Given the description of an element on the screen output the (x, y) to click on. 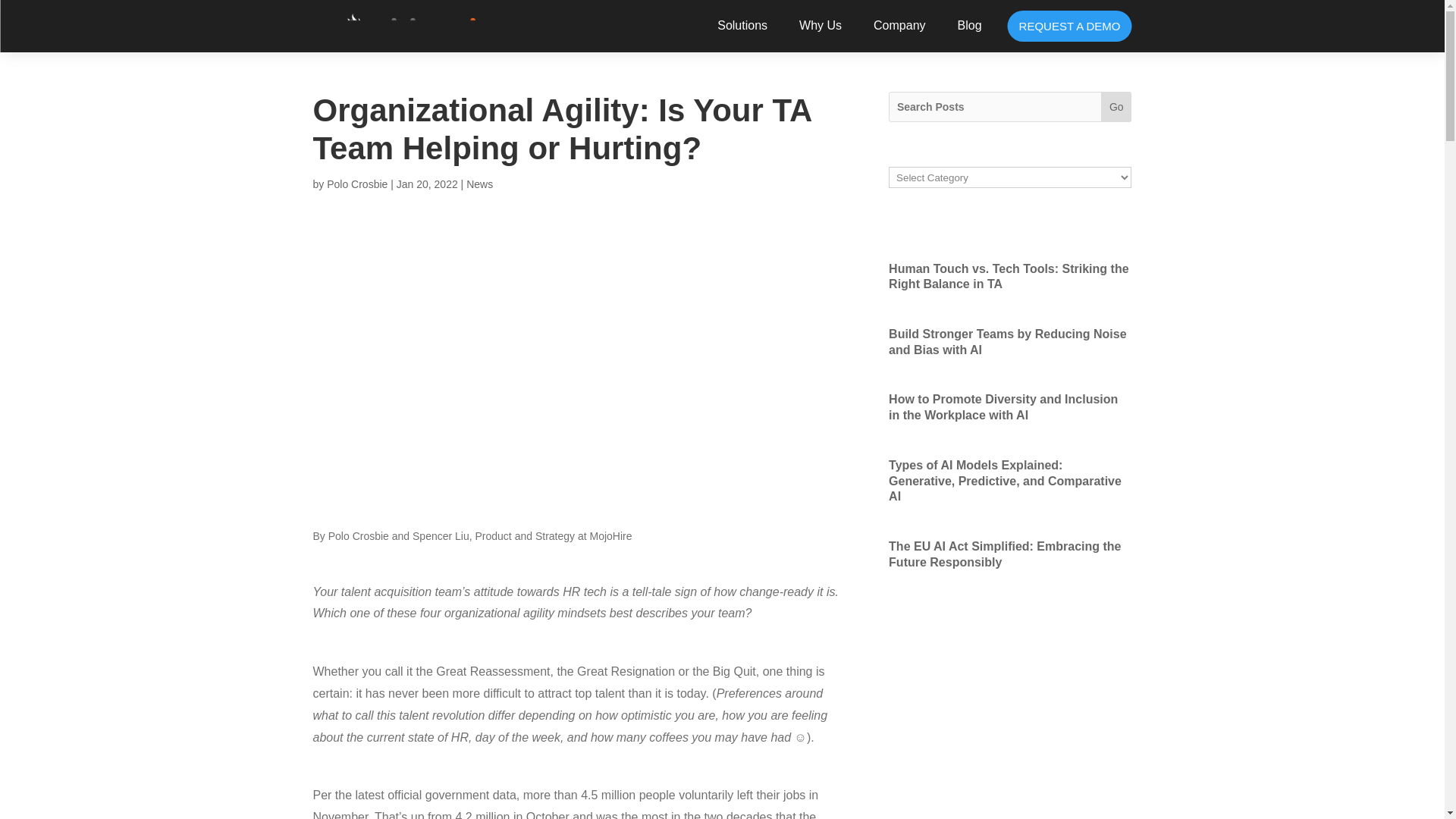
Why Us (828, 37)
Go (1115, 106)
Polo Crosbie (356, 184)
Posts by Polo Crosbie (356, 184)
Solutions (750, 37)
Company (906, 37)
News (479, 184)
REQUEST A DEMO (1069, 26)
